Given the description of an element on the screen output the (x, y) to click on. 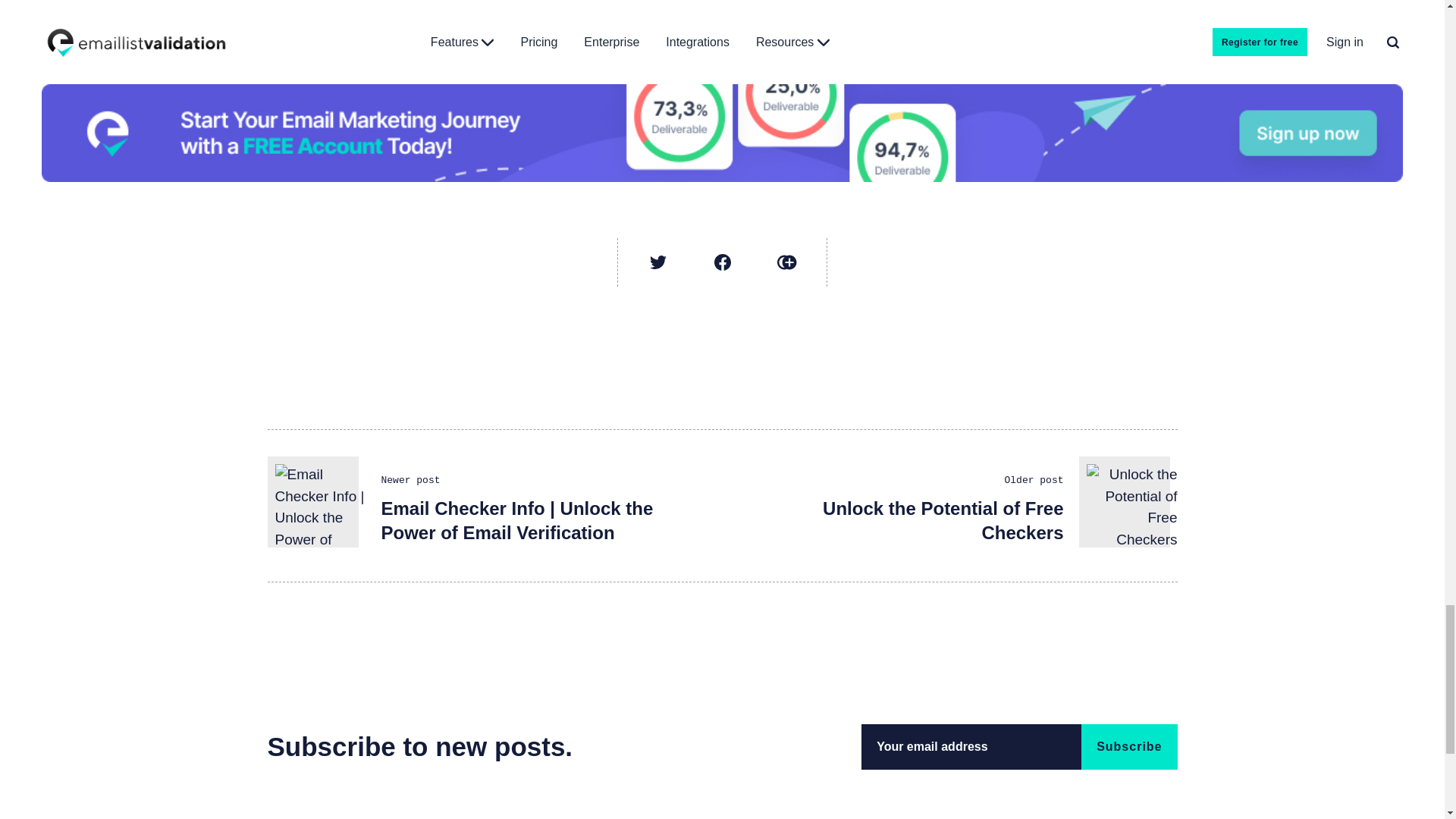
Subscribe (1128, 746)
Unlock the Potential of Free Checkers (942, 519)
